Given the description of an element on the screen output the (x, y) to click on. 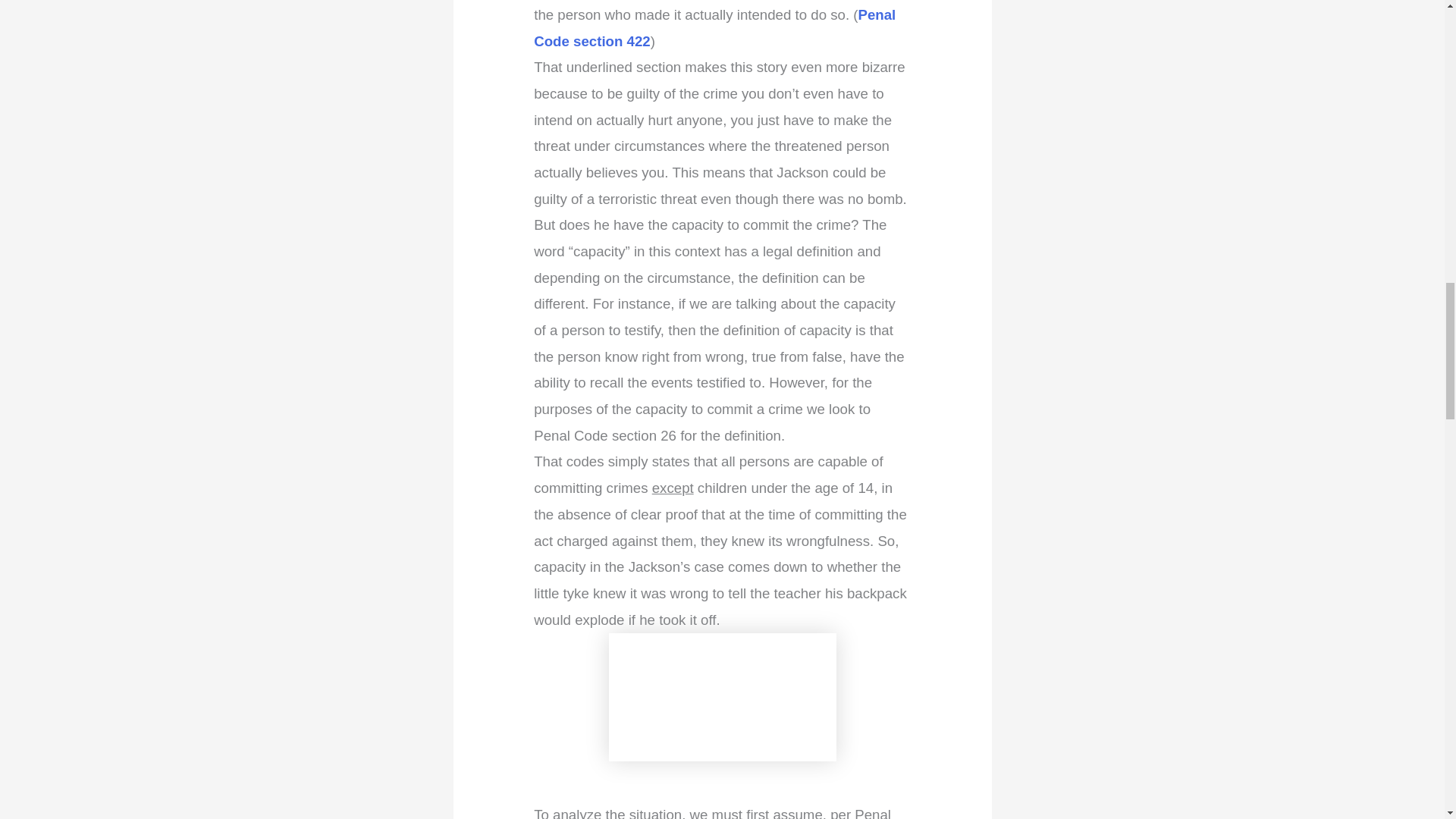
Penal Code section 422 (714, 27)
